Given the description of an element on the screen output the (x, y) to click on. 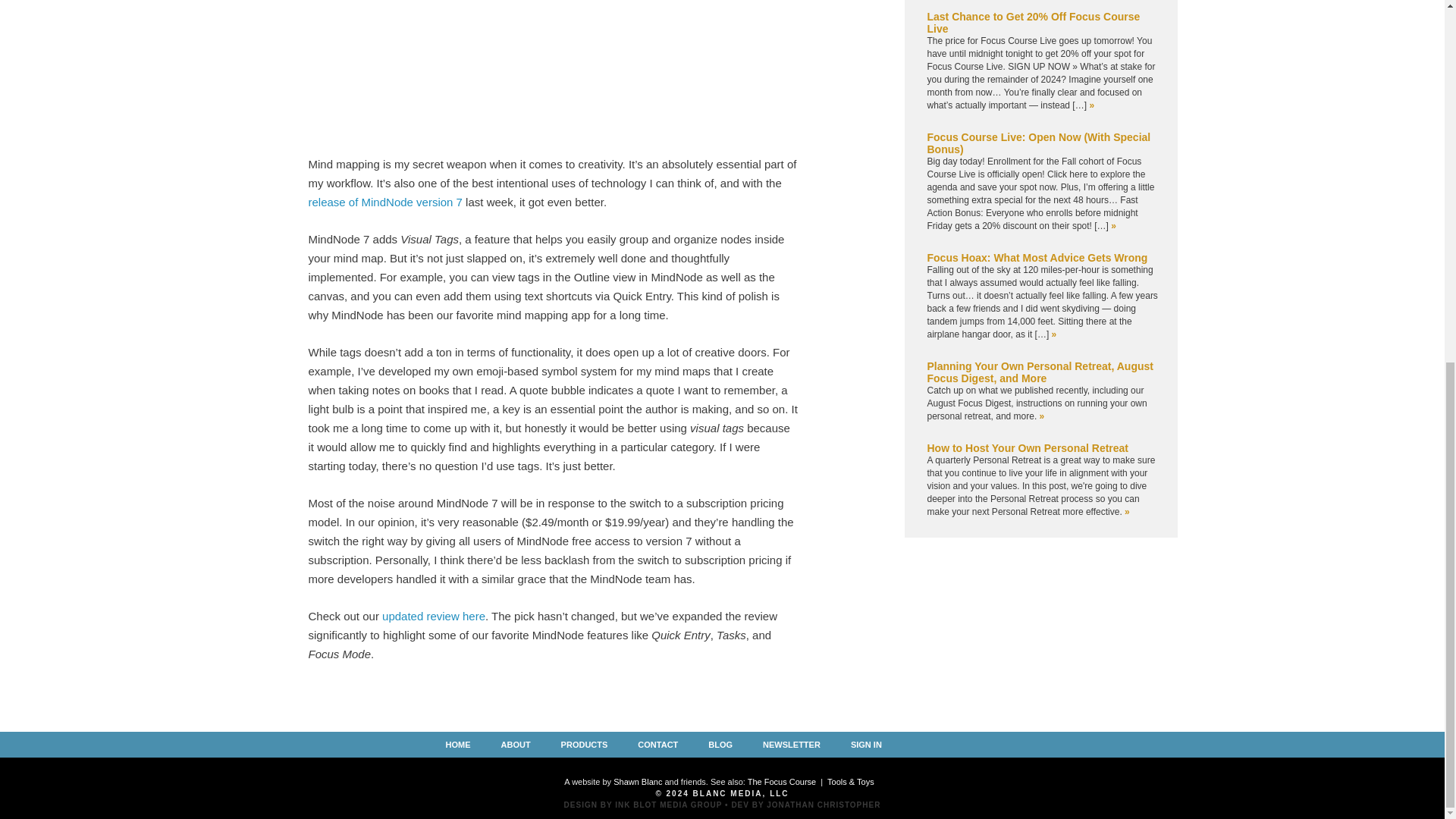
updated review here (432, 615)
How to Host Your Own Personal Retreat (1027, 448)
release of MindNode version 7 (384, 201)
Focus Hoax: What Most Advice Gets Wrong (1036, 257)
